Given the description of an element on the screen output the (x, y) to click on. 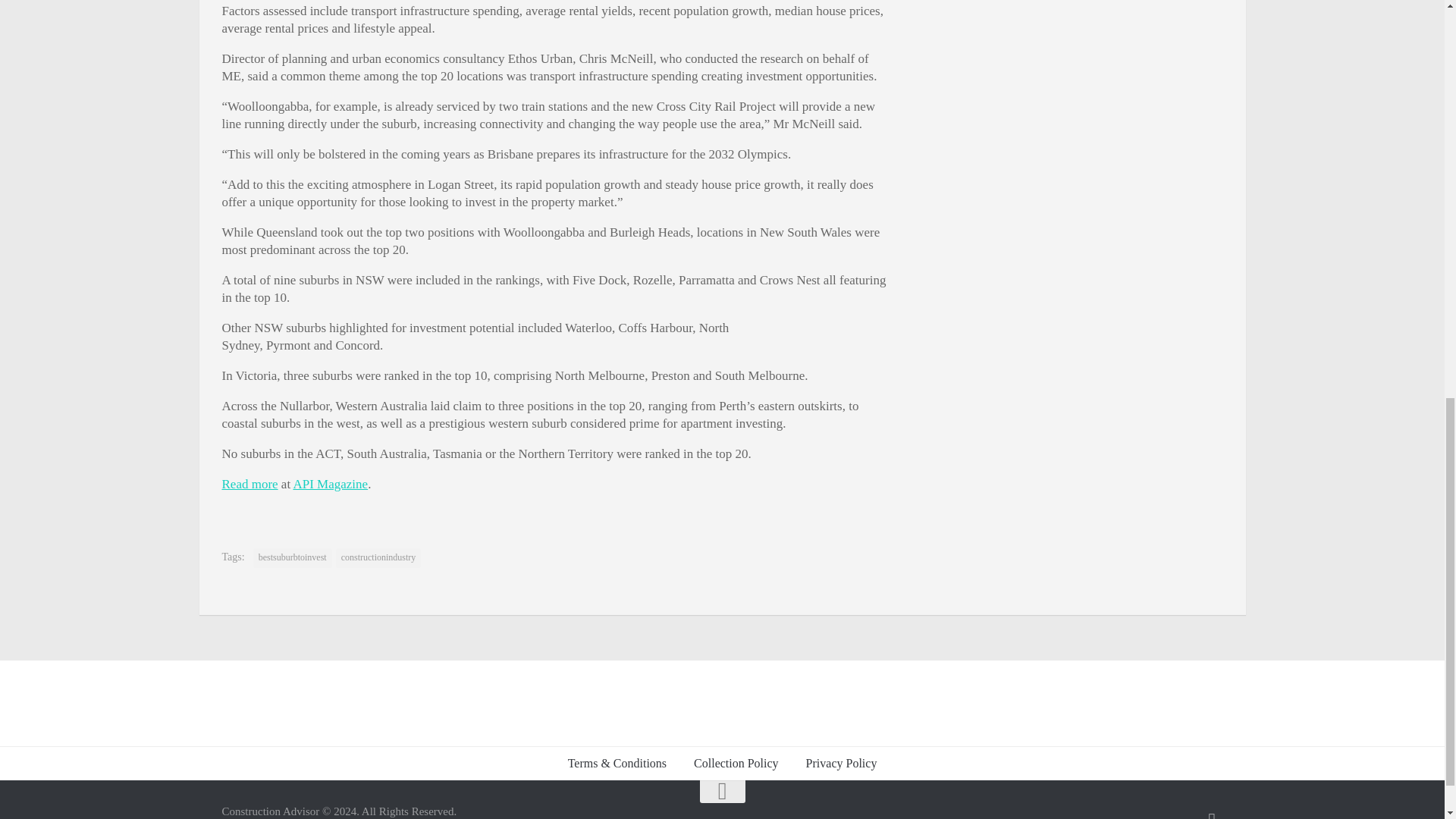
Privacy Policy (841, 763)
Read more (249, 483)
API Magazine (330, 483)
bestsuburbtoinvest (292, 557)
Follow us on Linkedin (1212, 814)
Collection Policy (735, 763)
constructionindustry (379, 557)
